Given the description of an element on the screen output the (x, y) to click on. 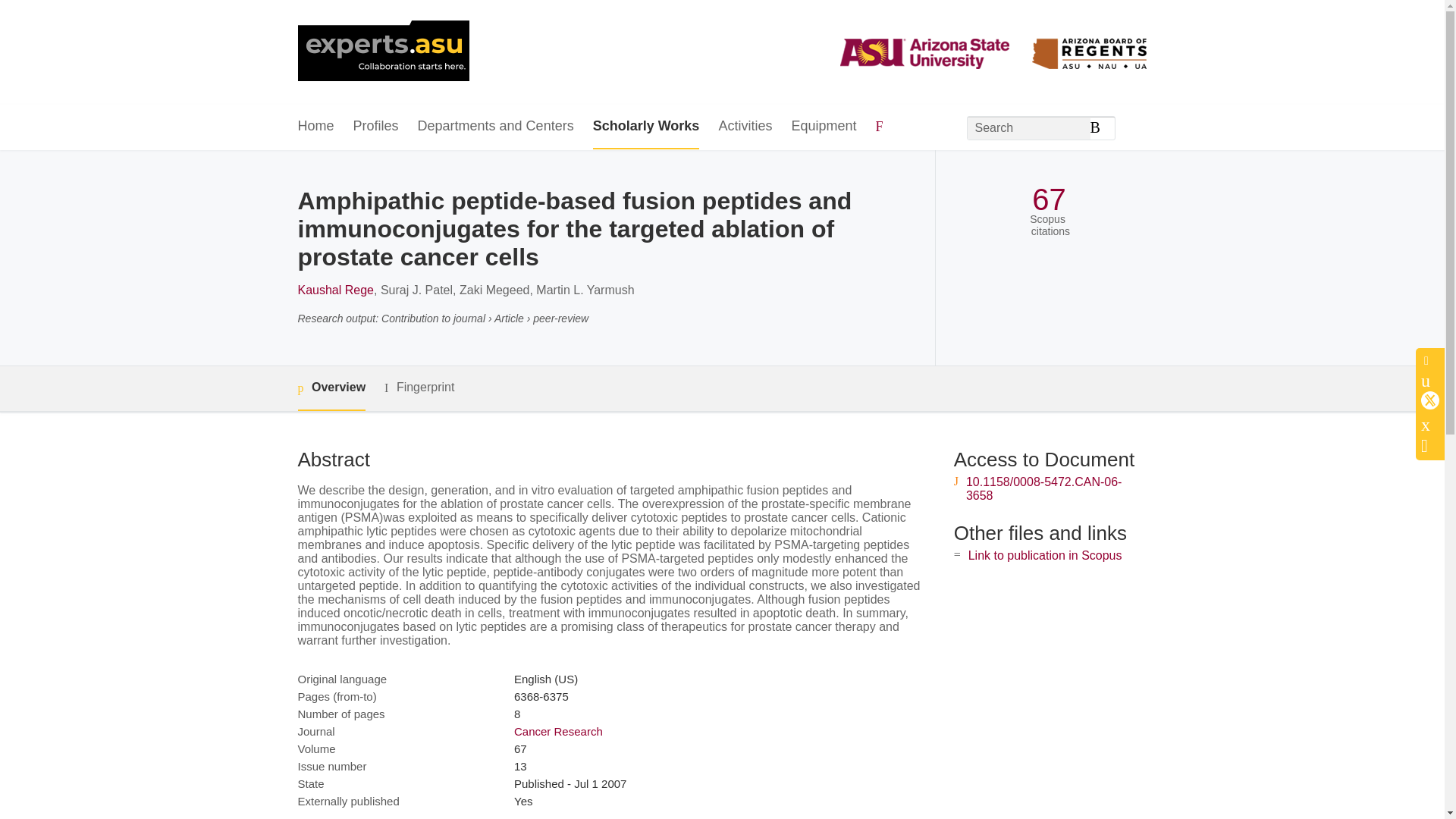
Cancer Research (557, 730)
Overview (331, 388)
Profiles (375, 126)
Activities (744, 126)
Kaushal Rege (335, 289)
Fingerprint (419, 387)
Equipment (823, 126)
Departments and Centers (495, 126)
Scholarly Works (646, 126)
